Given the description of an element on the screen output the (x, y) to click on. 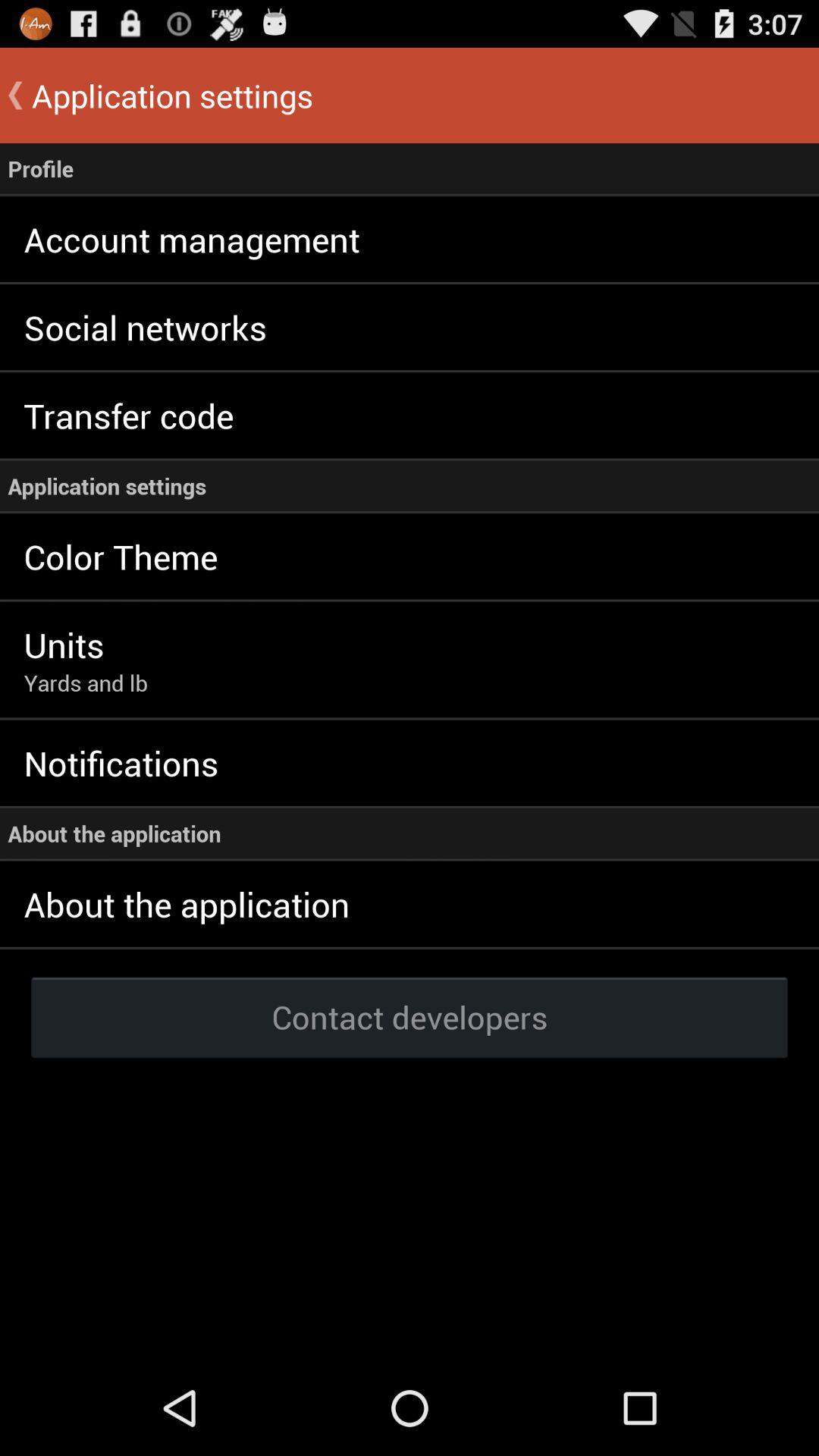
scroll to contact developers item (409, 1016)
